Given the description of an element on the screen output the (x, y) to click on. 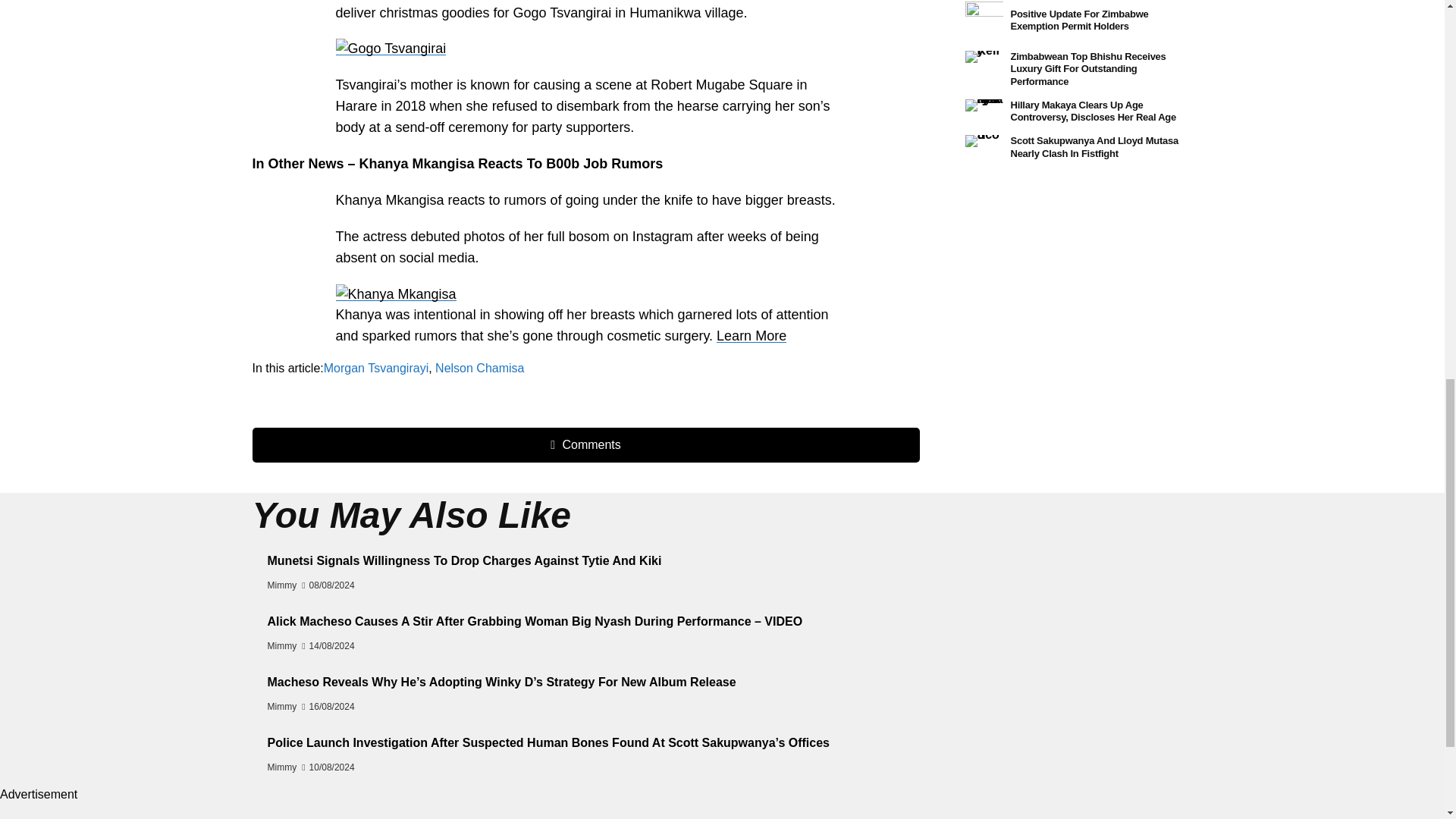
Morgan Tsvangirayi (375, 367)
Learn More (751, 335)
Posts by Mimmy (281, 645)
Nelson Chamisa (479, 367)
Posts by Mimmy (281, 584)
